Given the description of an element on the screen output the (x, y) to click on. 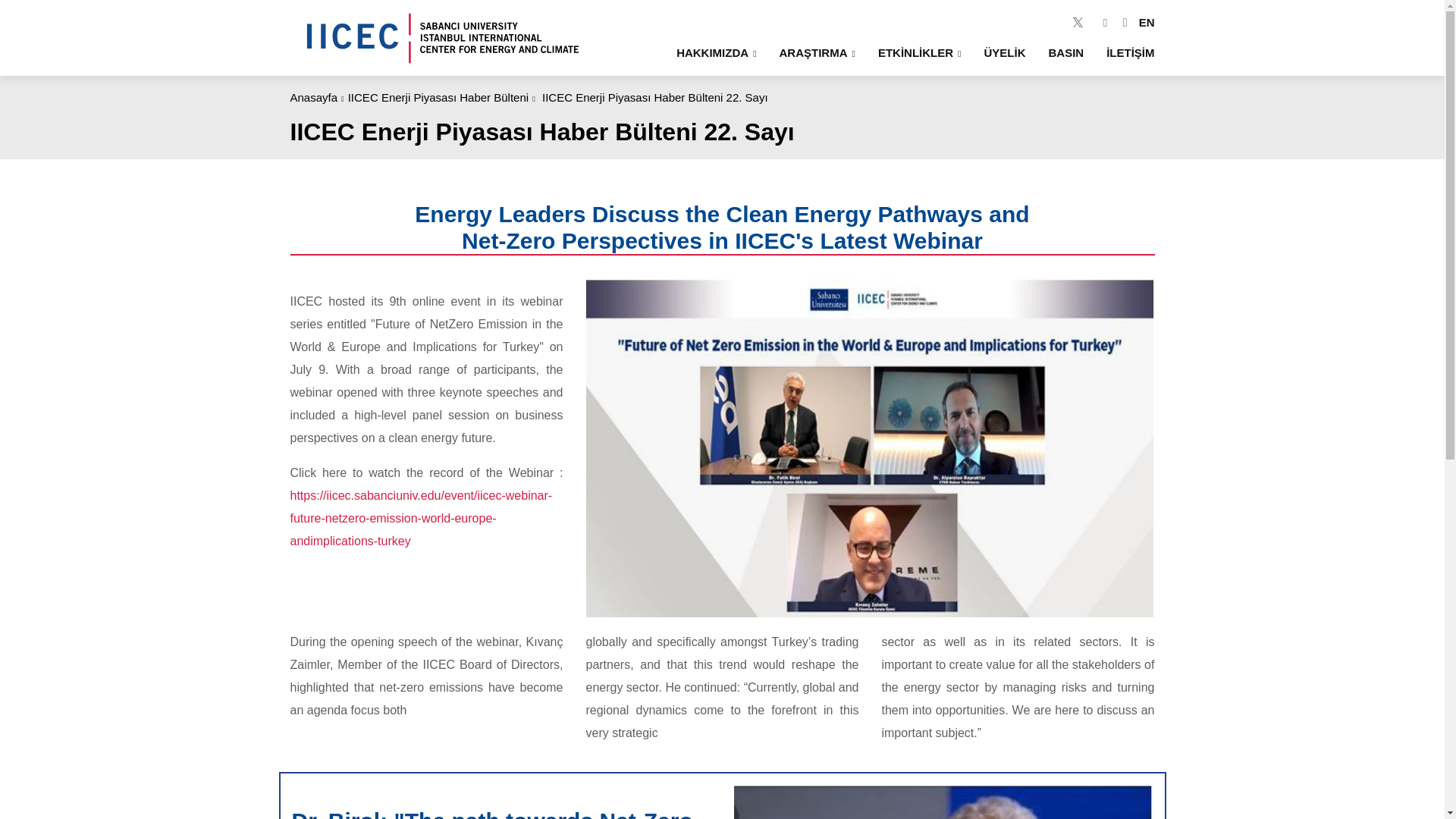
BASIN (1065, 52)
Anasayfa (313, 97)
HAKKIMIZDA (716, 52)
